Given the description of an element on the screen output the (x, y) to click on. 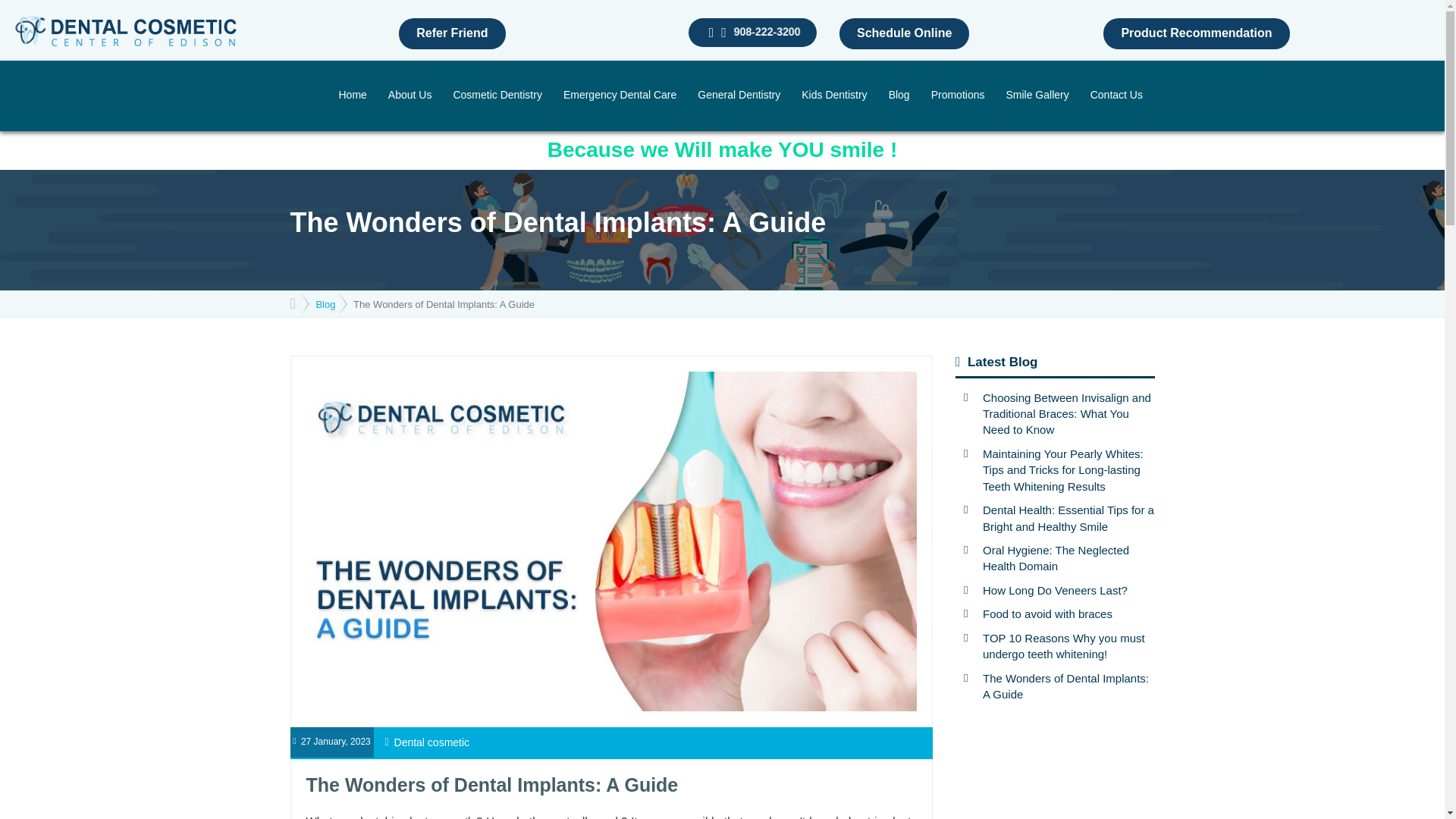
Emergency Dental Care (620, 96)
About Us (409, 96)
Home (352, 96)
Emergency Dental Care (620, 96)
Cosmetic Dentistry (496, 96)
Product Recommendation (1195, 33)
About Us (409, 96)
908-222-3200 (766, 32)
Refer Friend (451, 33)
Home (352, 96)
